Given the description of an element on the screen output the (x, y) to click on. 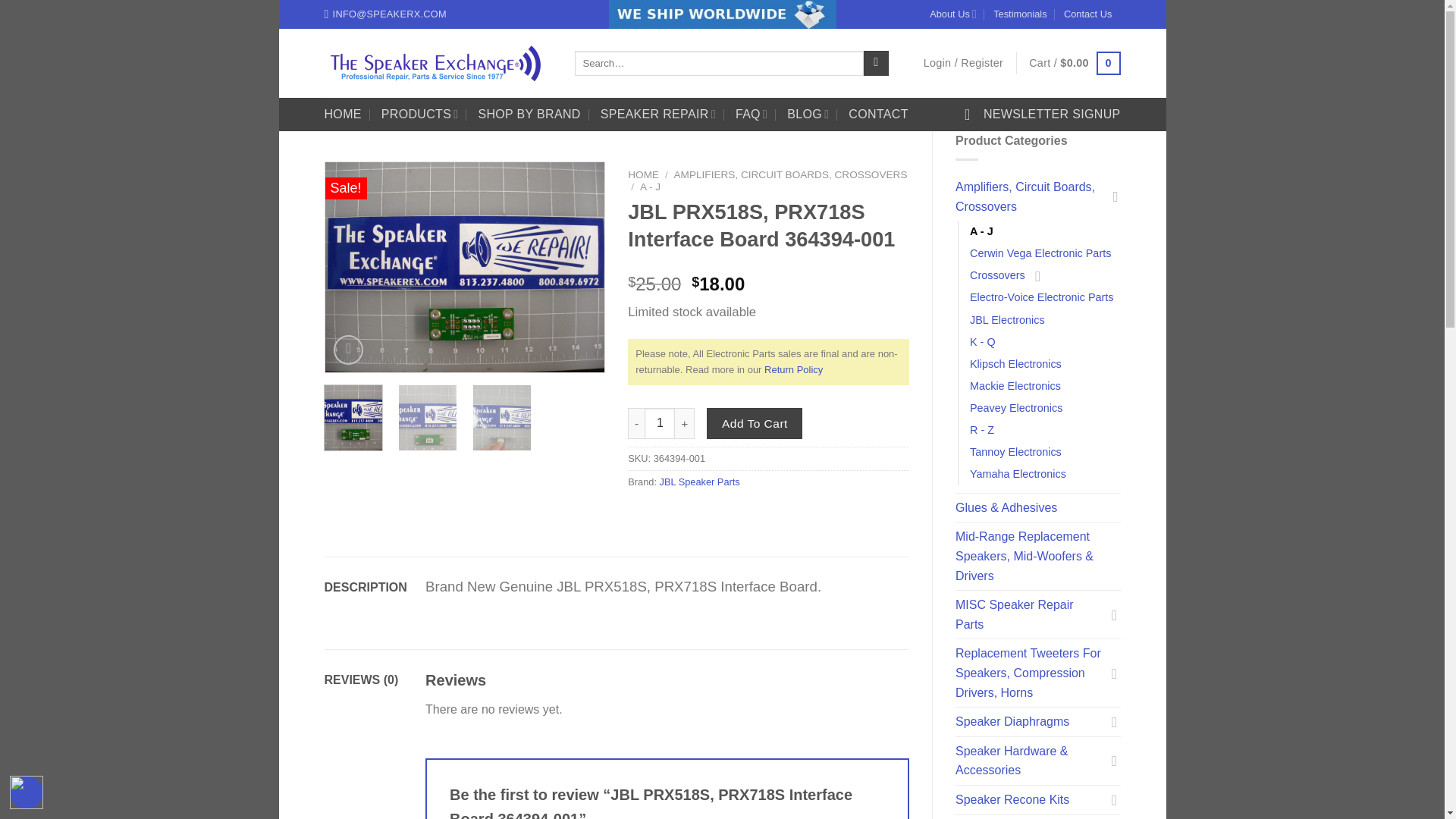
SHOP BY BRAND (528, 113)
SPEAKER REPAIR (657, 113)
Zoom (347, 349)
HOME (342, 113)
PRODUCTS (419, 113)
Accessibility Menu (26, 792)
1 (660, 422)
FAQ (751, 113)
